Given the description of an element on the screen output the (x, y) to click on. 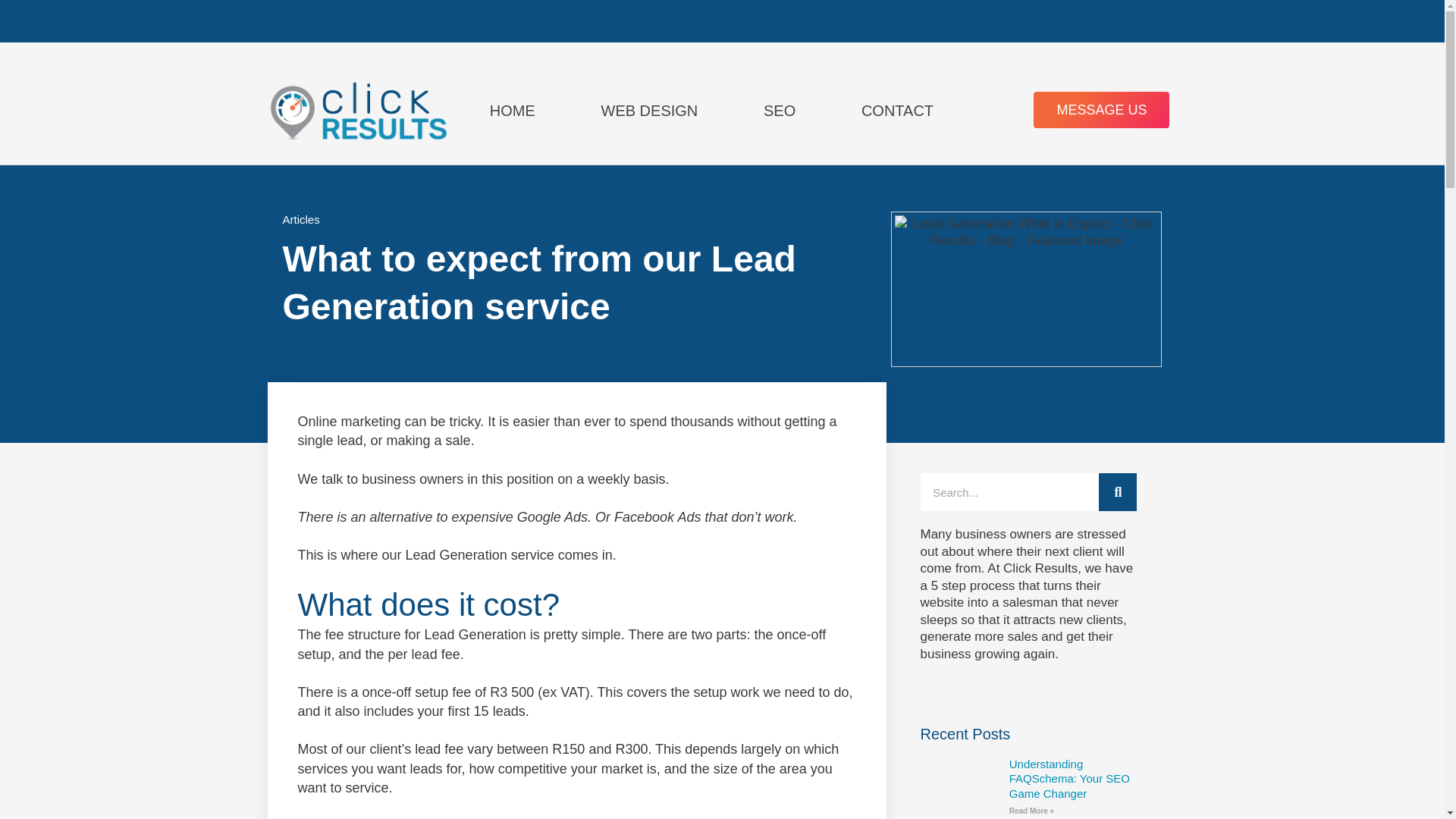
SEO (779, 110)
Articles (300, 219)
CONTACT (897, 110)
WEB DESIGN (648, 110)
SEARCH (1118, 492)
HOME (512, 110)
MESSAGE US (1101, 109)
Understanding FAQSchema: Your SEO Game Changer (1069, 778)
